Given the description of an element on the screen output the (x, y) to click on. 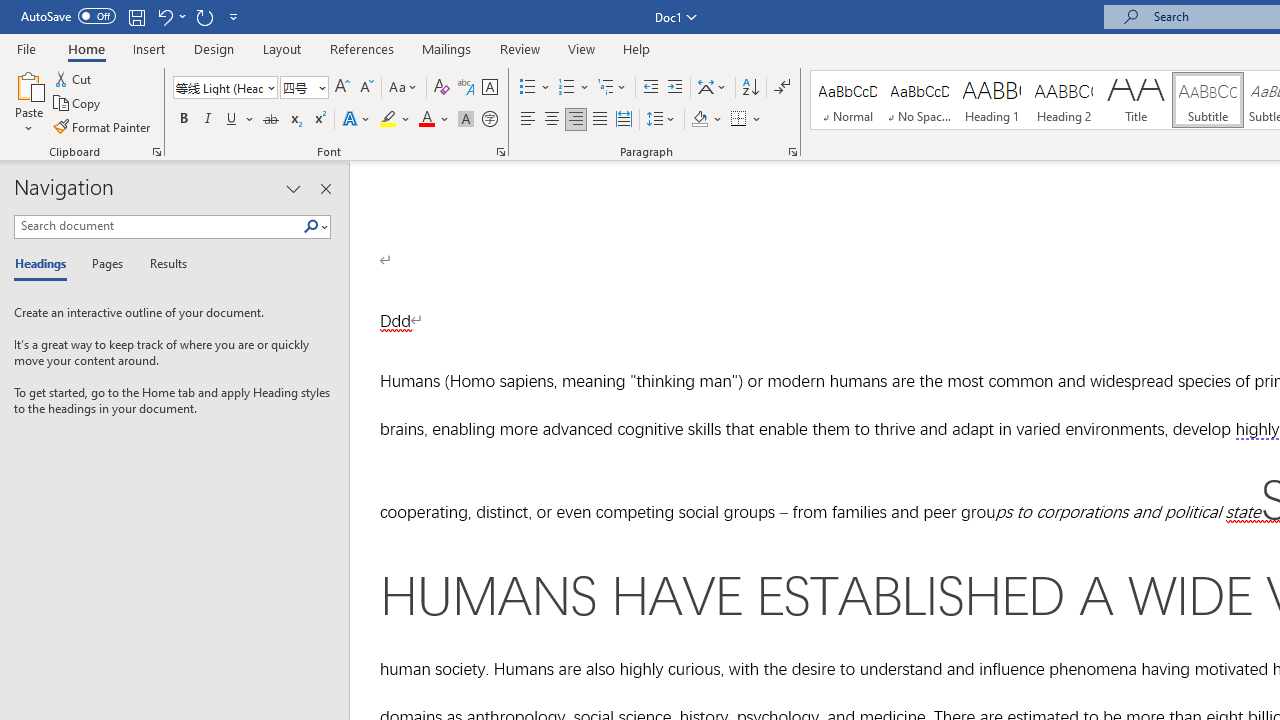
Sort... (750, 87)
Character Border (489, 87)
Change Case (404, 87)
Enclose Characters... (489, 119)
Format Painter (103, 126)
Shrink Font (365, 87)
Text Highlight Color Yellow (388, 119)
Copy (78, 103)
